Given the description of an element on the screen output the (x, y) to click on. 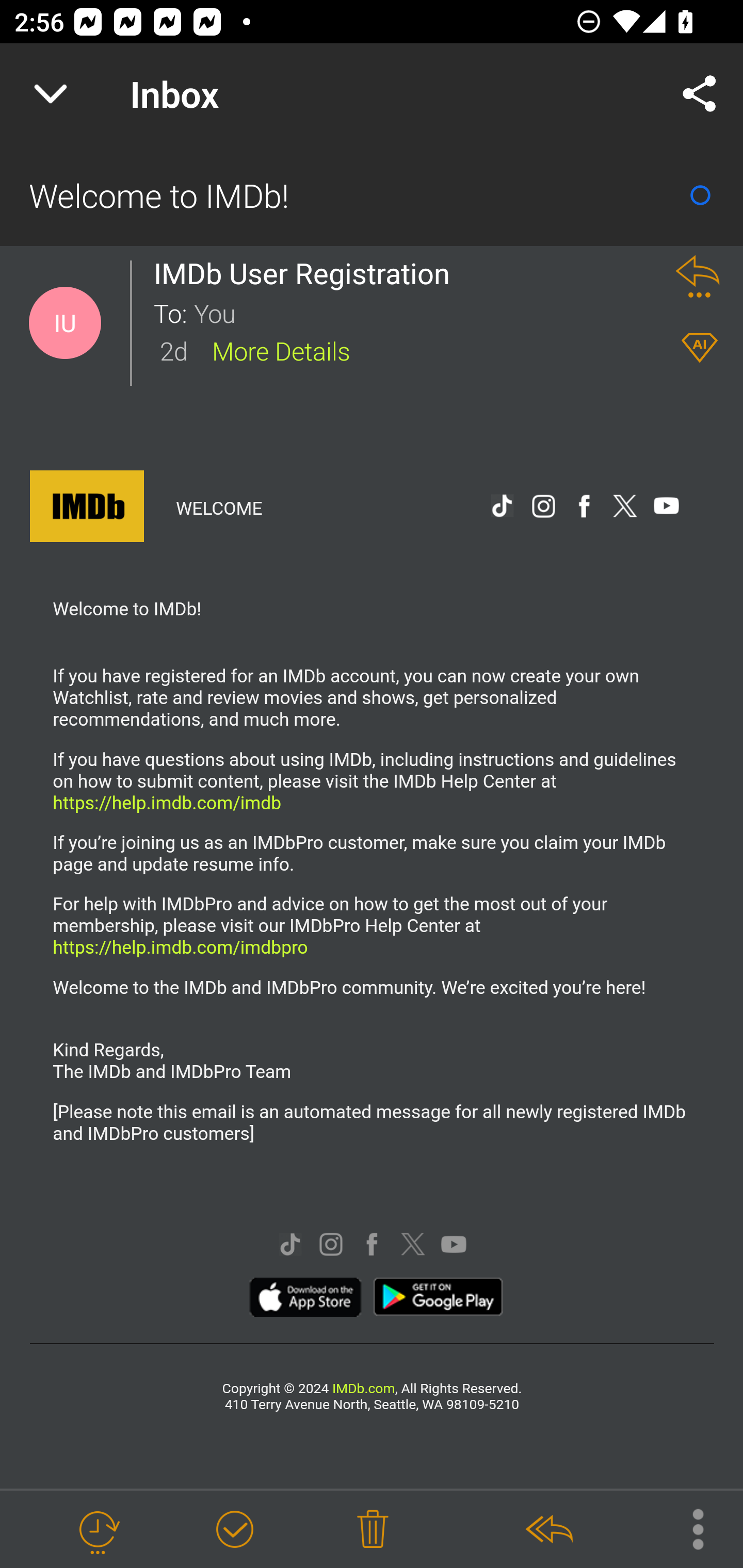
Navigate up (50, 93)
Share (699, 93)
Mark as Read (699, 194)
IMDb User Registration (306, 273)
Contact Details (64, 322)
You (422, 311)
More Details (280, 349)
IMDb Logo (86, 508)
IMDb on TikTok (501, 507)
IMDb on Instagram (543, 507)
IMDb on Facebook (583, 507)
IMDb on X (625, 507)
IMDb on YouTube (665, 507)
https://help.imdb.com/imdb (166, 801)
https://help.imdb.com/imdbpro (180, 946)
IMDb on TikTok (289, 1246)
IMDb on Instagram (330, 1246)
IMDb on Facebook (371, 1246)
IMDb on X (412, 1246)
IMDb on YouTube (453, 1246)
apple_113x34 (305, 1298)
google_113x34 (437, 1298)
IMDb.com (362, 1388)
Snooze (97, 1529)
Mark as Done (234, 1529)
Delete (372, 1529)
Reply All (548, 1529)
